Given the description of an element on the screen output the (x, y) to click on. 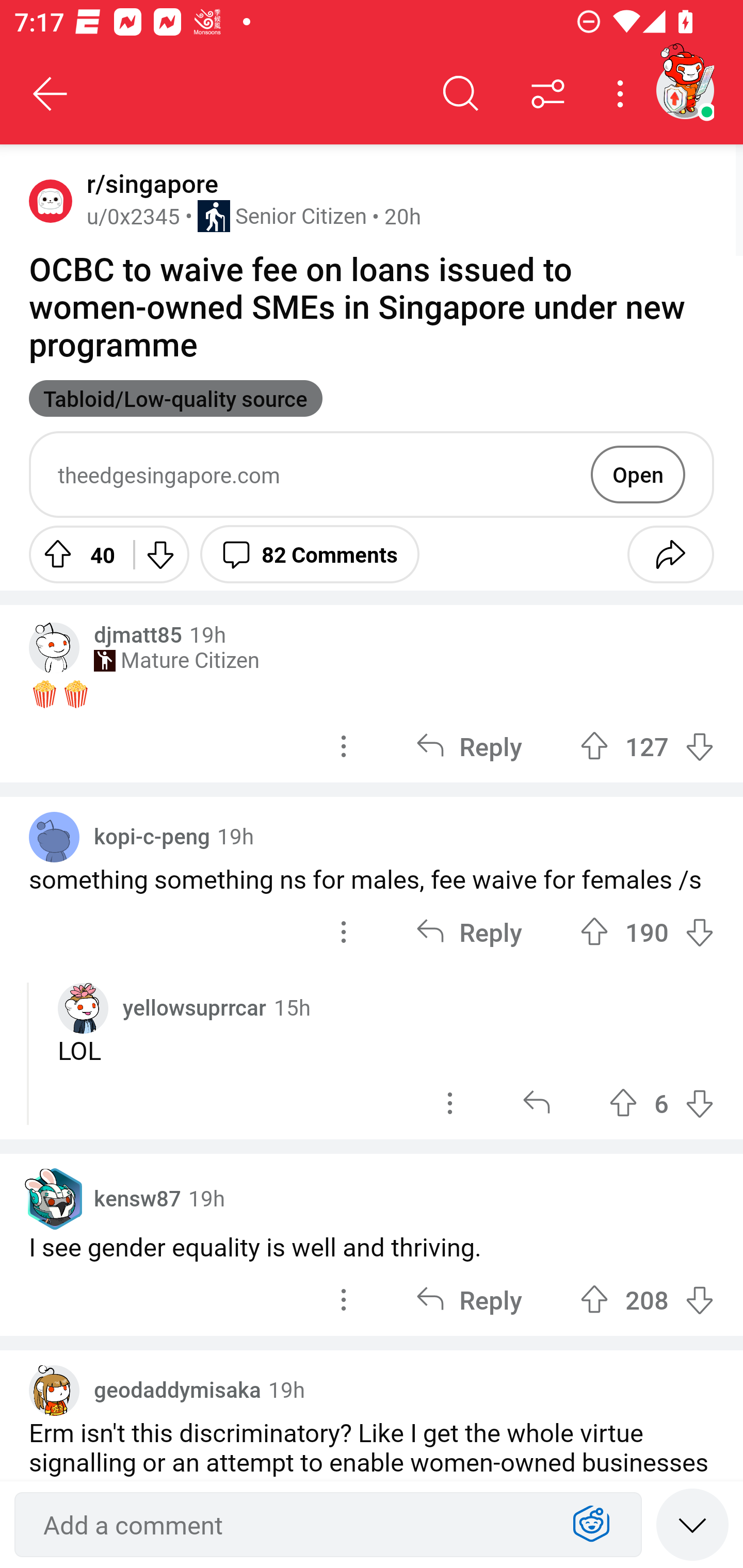
Back (50, 93)
TestAppium002 account (685, 90)
Search comments (460, 93)
Sort comments (547, 93)
More options (623, 93)
r/singapore (148, 183)
Avatar (50, 200)
Tabloid/Low-quality source (175, 398)
theedgesingapore.com Open (371, 474)
Open (637, 474)
Upvote 40 (73, 554)
Downvote (158, 554)
82 Comments (309, 554)
Share (670, 554)
Custom avatar (53, 647)
￼ Mature Citizen (176, 659)
🍿🍿 (371, 692)
options (343, 746)
Reply (469, 746)
Upvote 127 127 votes Downvote (647, 746)
Avatar (53, 837)
options (343, 931)
Reply (469, 931)
Upvote 190 190 votes Downvote (647, 931)
Custom avatar (82, 1008)
LOL (385, 1050)
options (449, 1103)
Upvote 6 6 votes Downvote (661, 1103)
I see gender equality is well and thriving. (371, 1246)
options (343, 1299)
Reply (469, 1299)
Upvote 208 208 votes Downvote (647, 1299)
Custom avatar (53, 1390)
Speed read (692, 1524)
Add a comment (291, 1524)
Show Expressions (590, 1524)
